Given the description of an element on the screen output the (x, y) to click on. 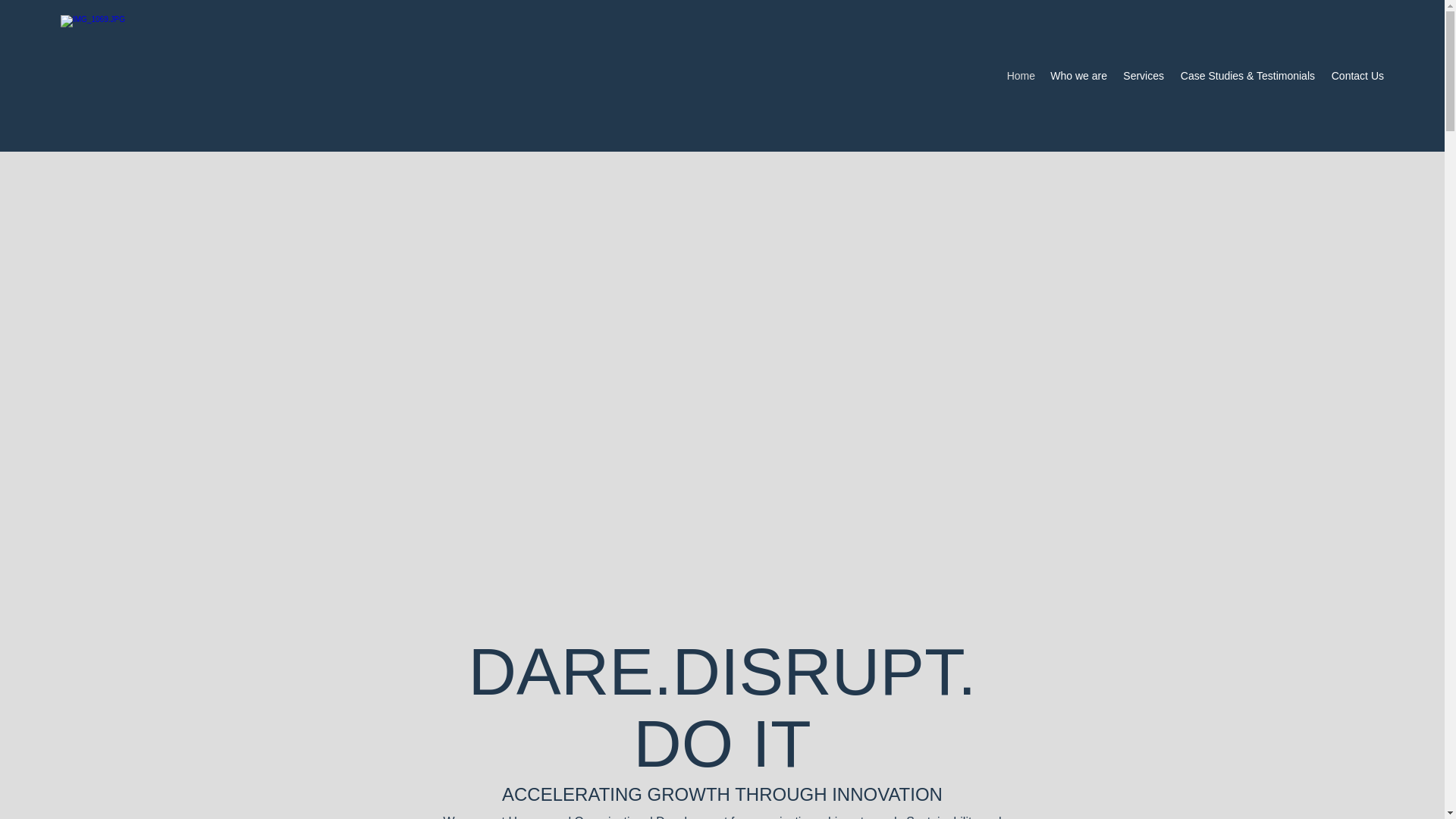
Who we are (1078, 75)
Contact Us (1356, 75)
Services (1143, 75)
Home (1020, 75)
